Given the description of an element on the screen output the (x, y) to click on. 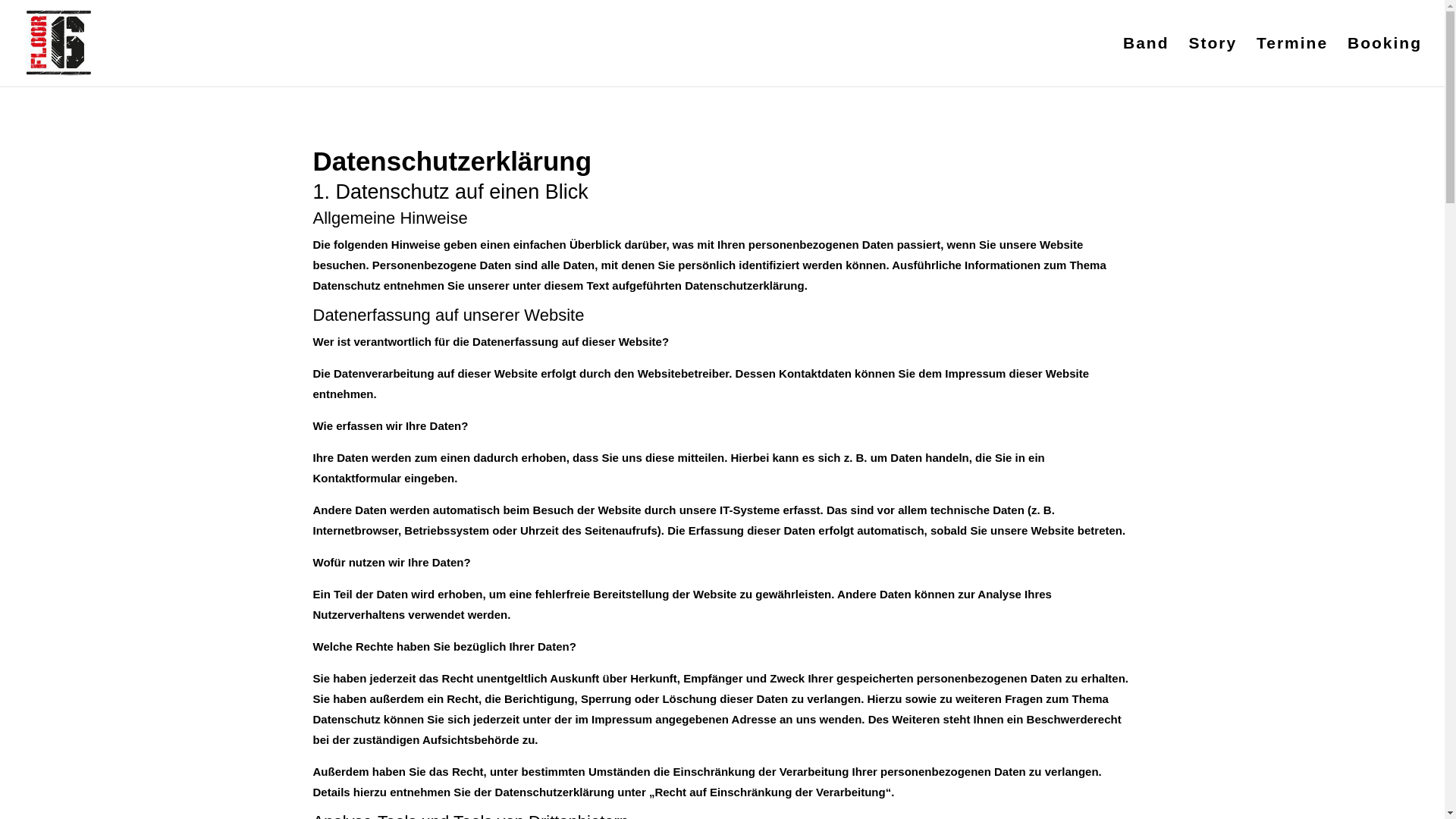
Termine Element type: text (1291, 61)
Story Element type: text (1212, 61)
Booking Element type: text (1384, 61)
Band Element type: text (1146, 61)
